Given the description of an element on the screen output the (x, y) to click on. 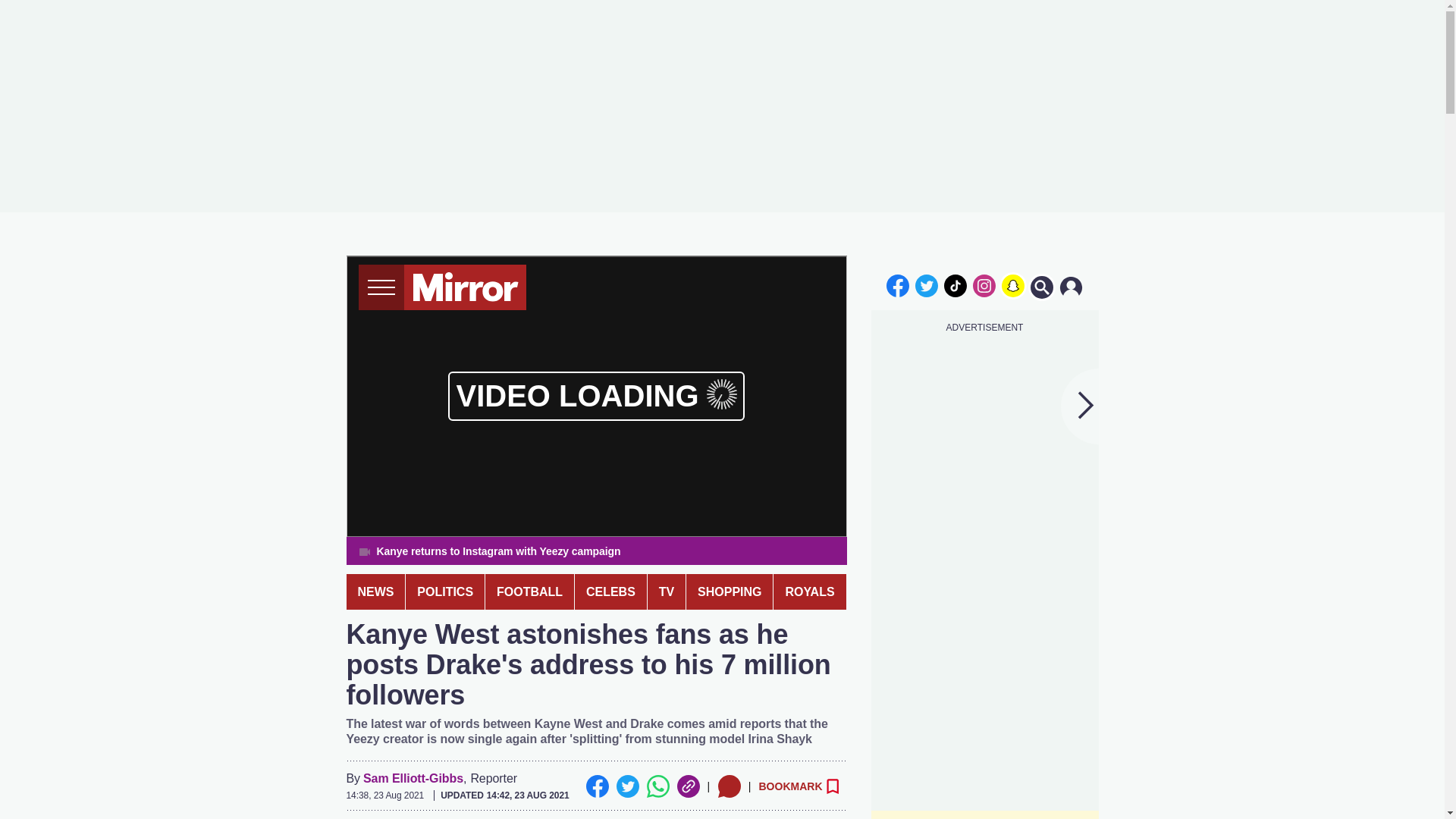
tiktok (955, 285)
instagram (984, 285)
Facebook (596, 785)
facebook (897, 285)
twitter (926, 285)
snapchat (1012, 285)
Twitter (627, 785)
